Given the description of an element on the screen output the (x, y) to click on. 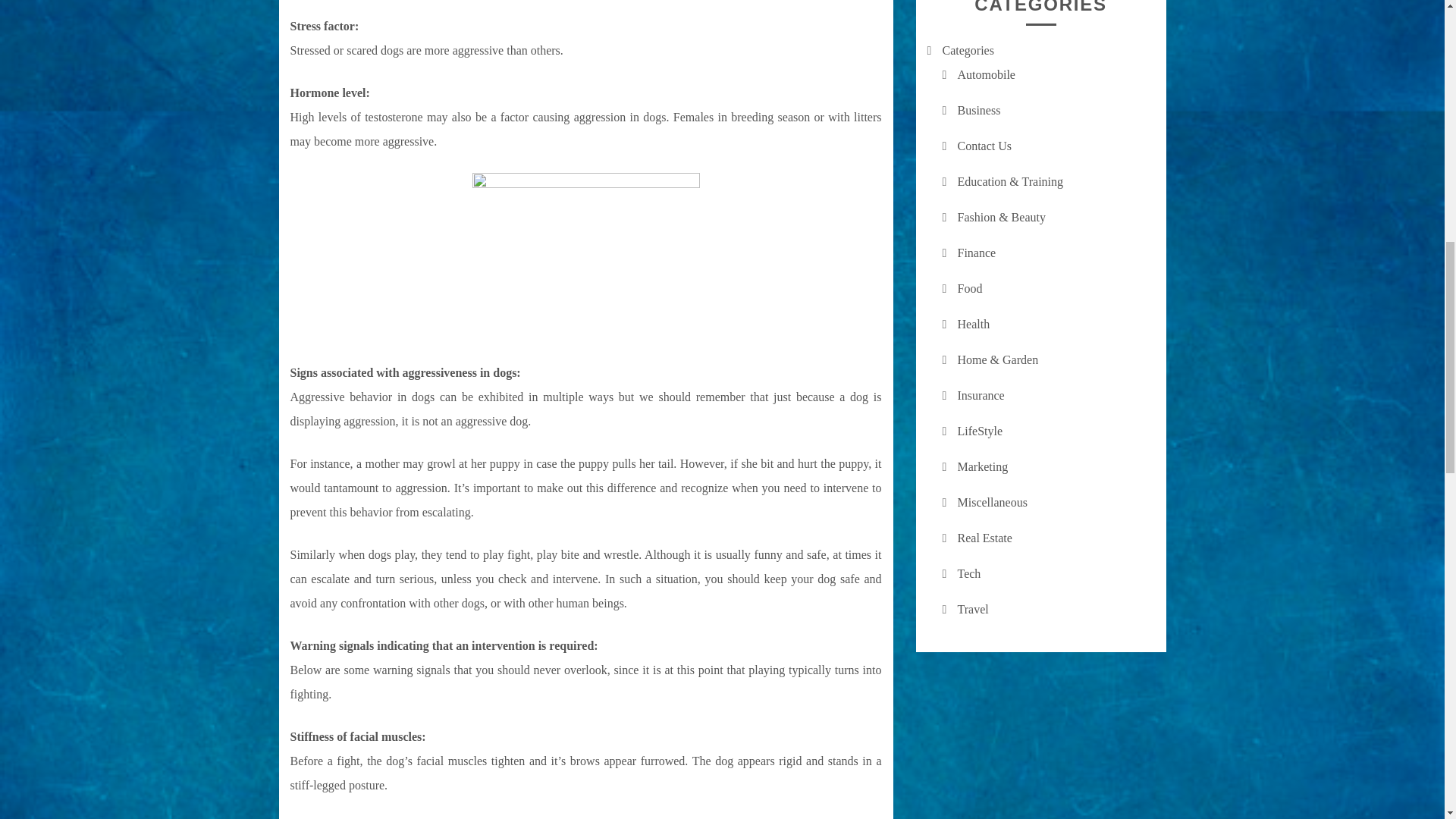
Automobile (985, 74)
Business (978, 110)
Contact Us (983, 145)
